Given the description of an element on the screen output the (x, y) to click on. 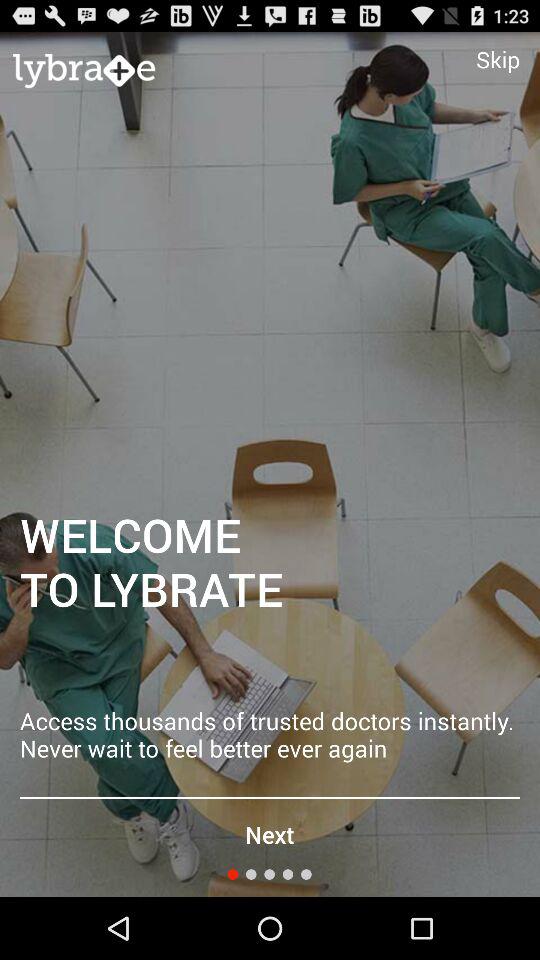
select item above welcome
to lybrate item (498, 59)
